Given the description of an element on the screen output the (x, y) to click on. 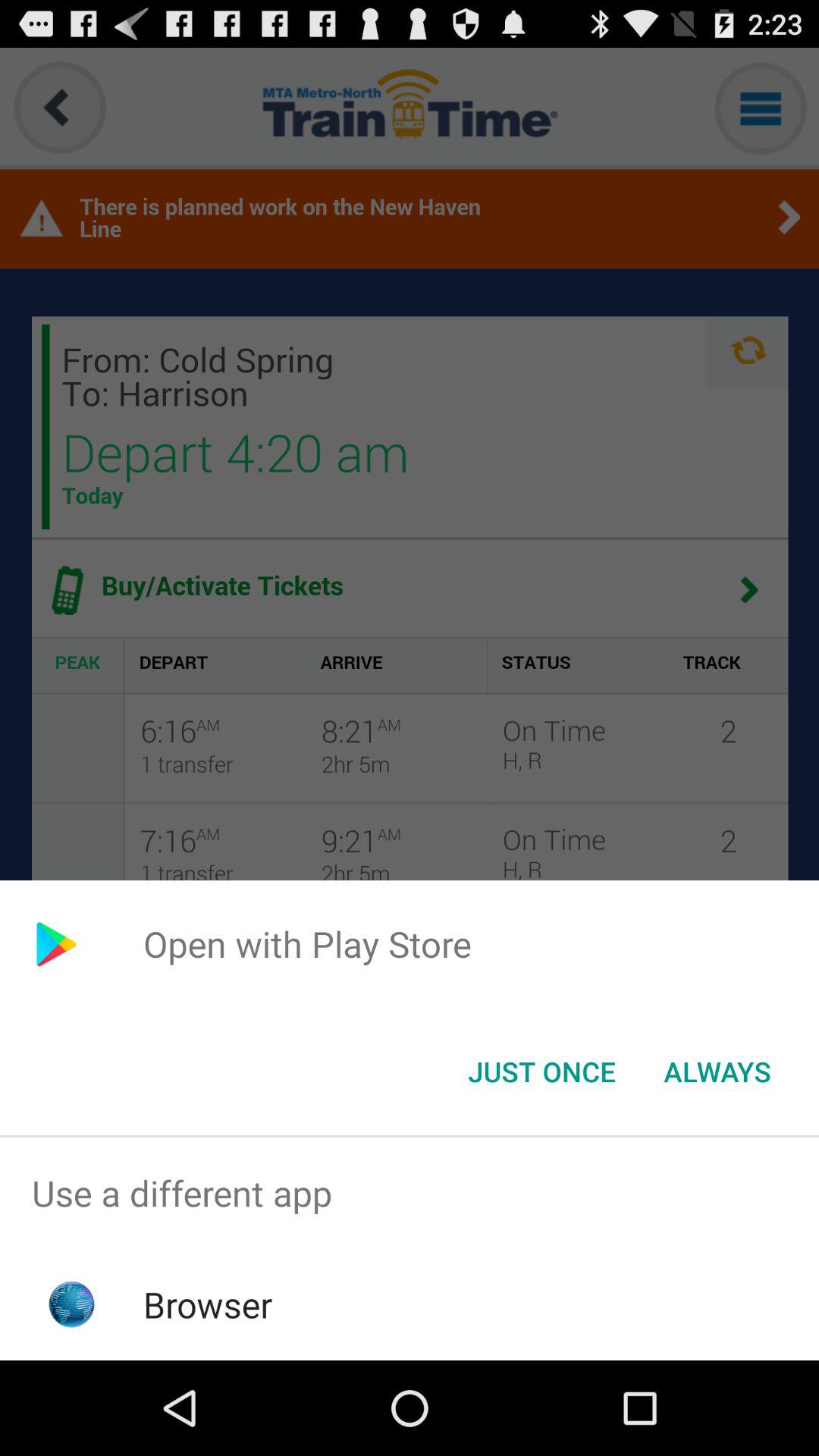
turn on the just once (541, 1071)
